Given the description of an element on the screen output the (x, y) to click on. 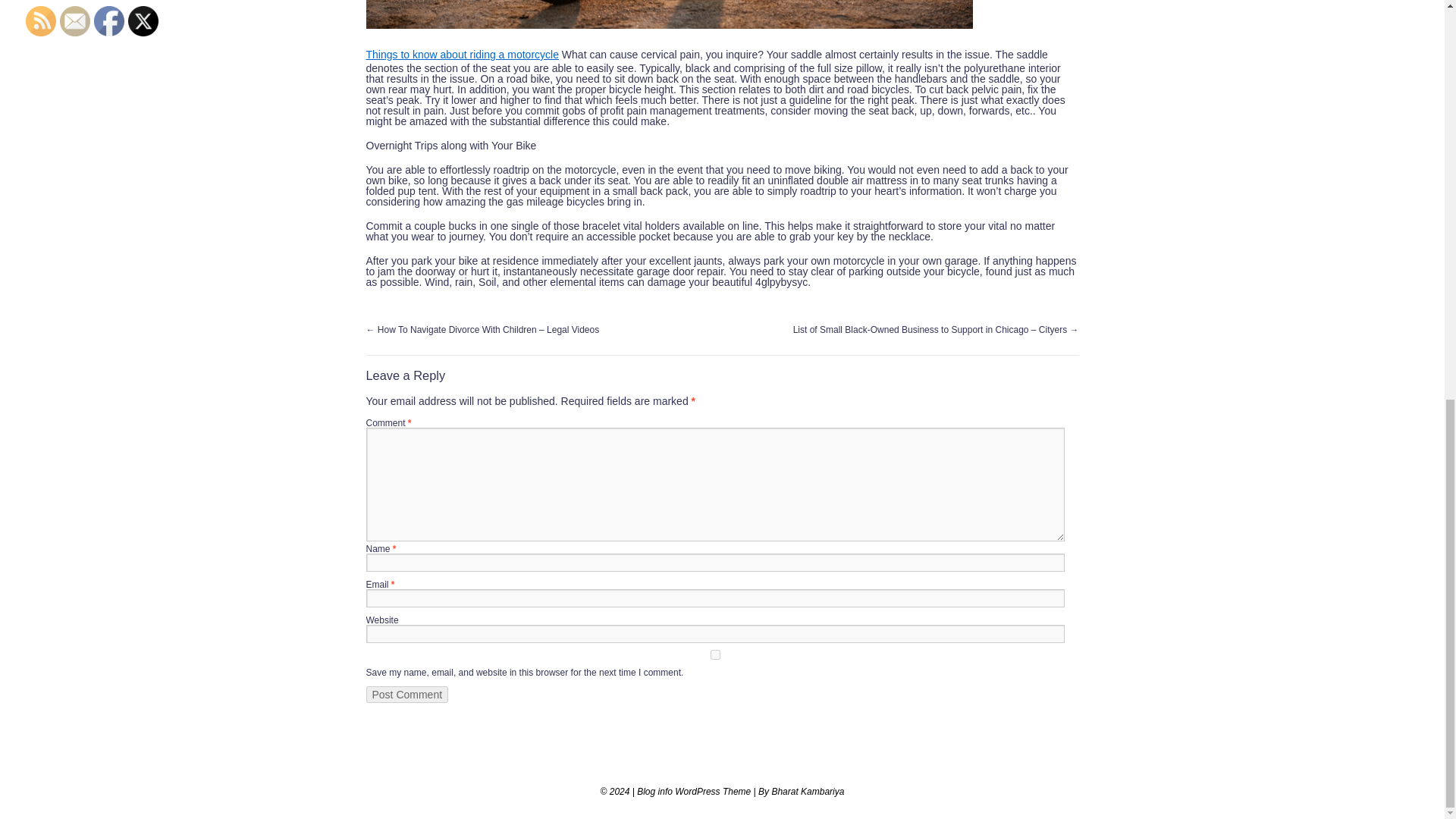
Post Comment (406, 694)
Post Comment (406, 694)
Twitter (143, 20)
Things to know about riding a motorcycle (461, 54)
Follow by Email (74, 20)
yes (714, 655)
Facebook (108, 20)
RSS (41, 20)
